Given the description of an element on the screen output the (x, y) to click on. 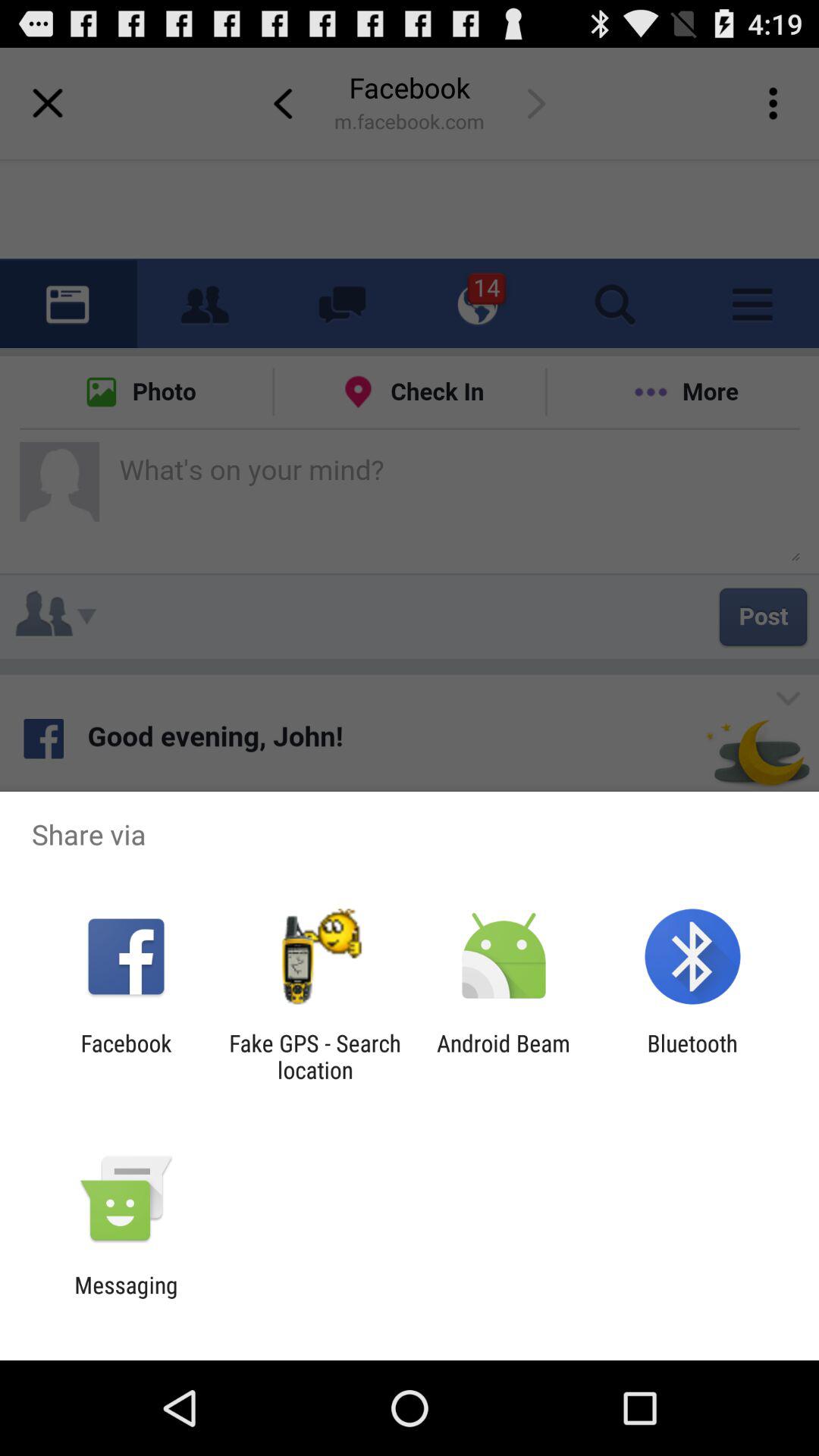
tap app next to android beam item (692, 1056)
